Given the description of an element on the screen output the (x, y) to click on. 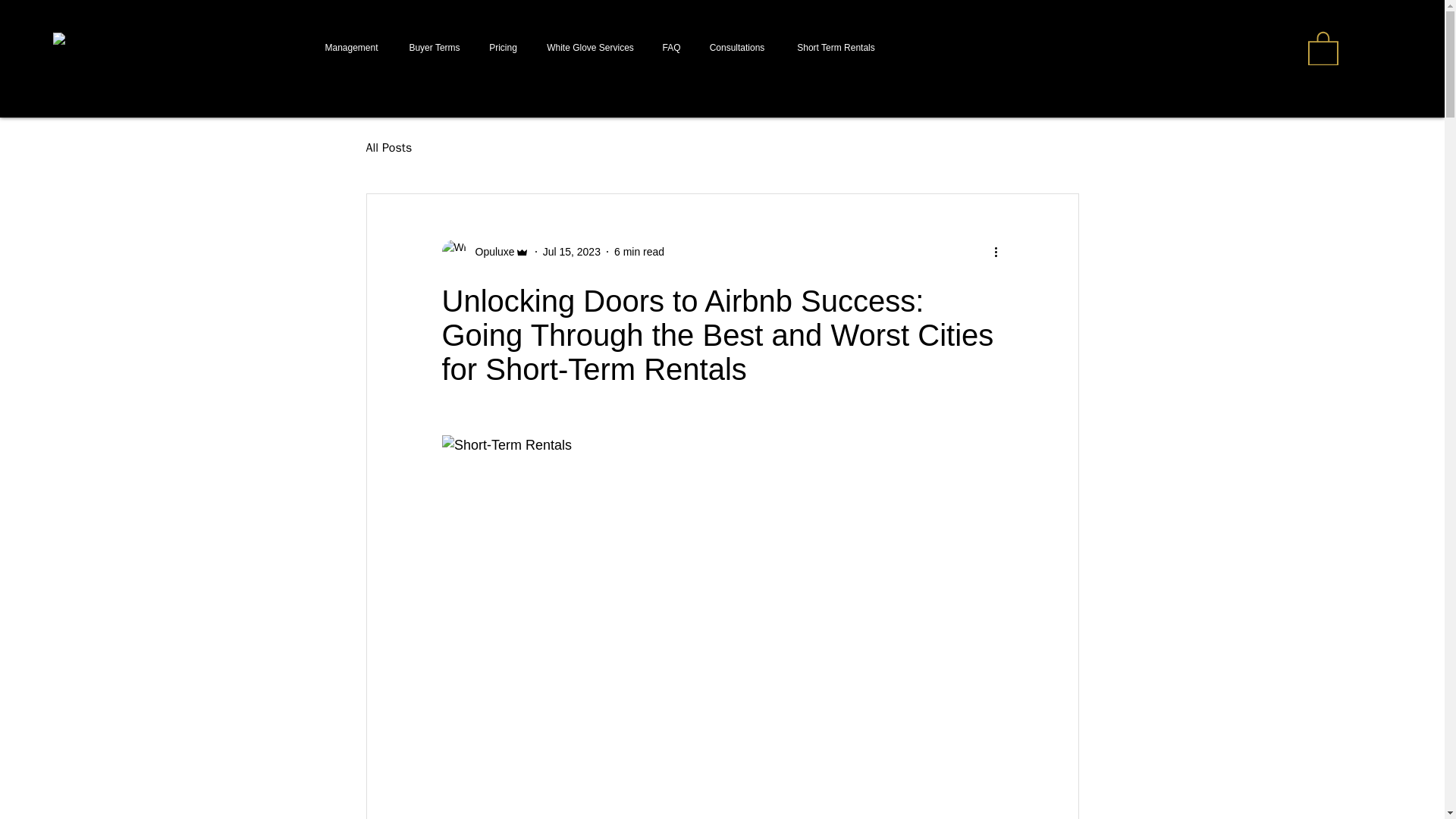
Jul 15, 2023 (571, 251)
Management (350, 47)
6 min read (638, 251)
Opuluxe (489, 252)
Pricing (503, 47)
FAQ (671, 47)
Opuluxe (484, 251)
All Posts (388, 147)
Short Term Rentals (835, 47)
Buyer Terms (434, 47)
White Glove Services (590, 47)
Consultations (737, 47)
